Given the description of an element on the screen output the (x, y) to click on. 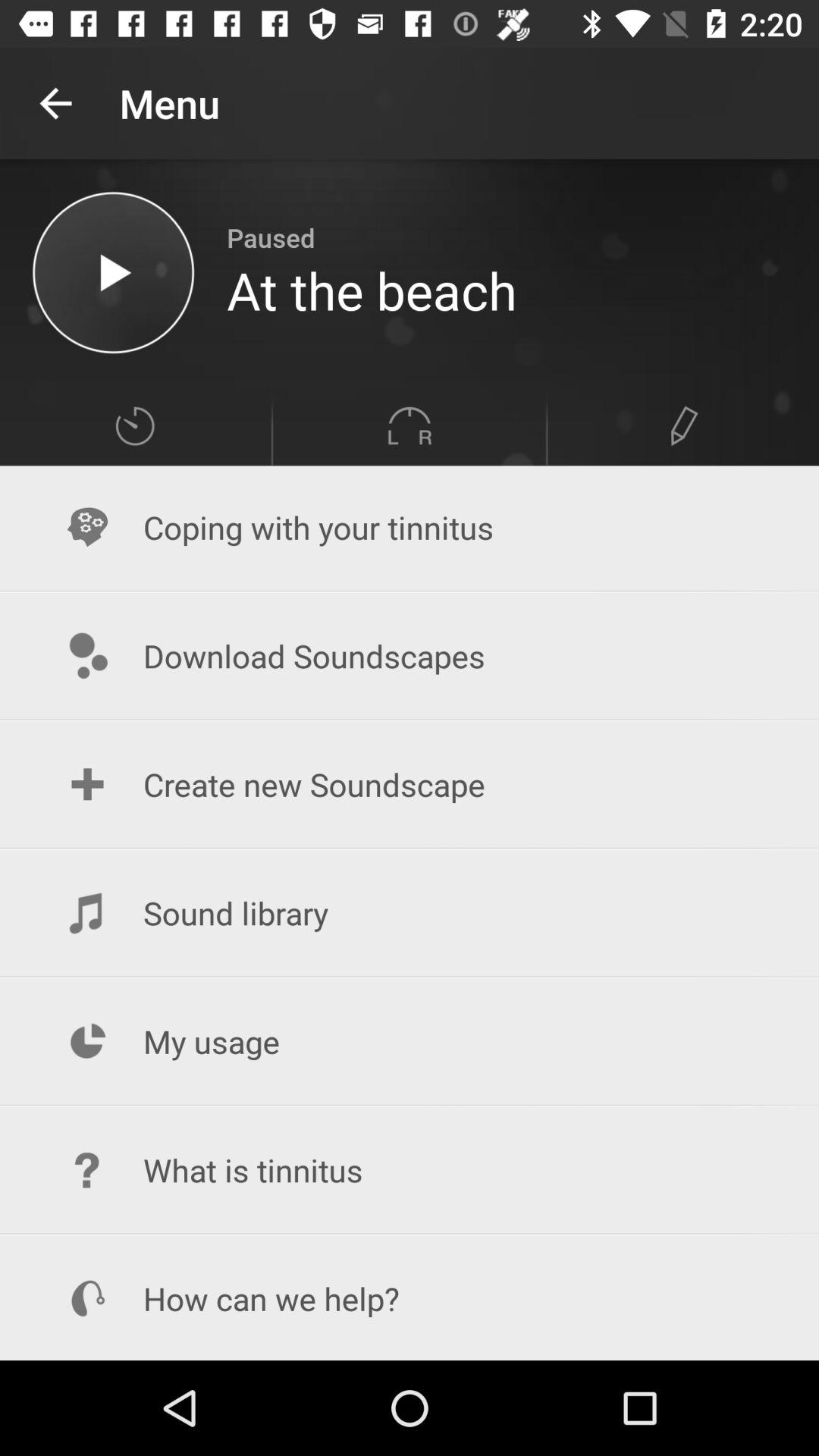
turn off item above coping with your icon (134, 425)
